Given the description of an element on the screen output the (x, y) to click on. 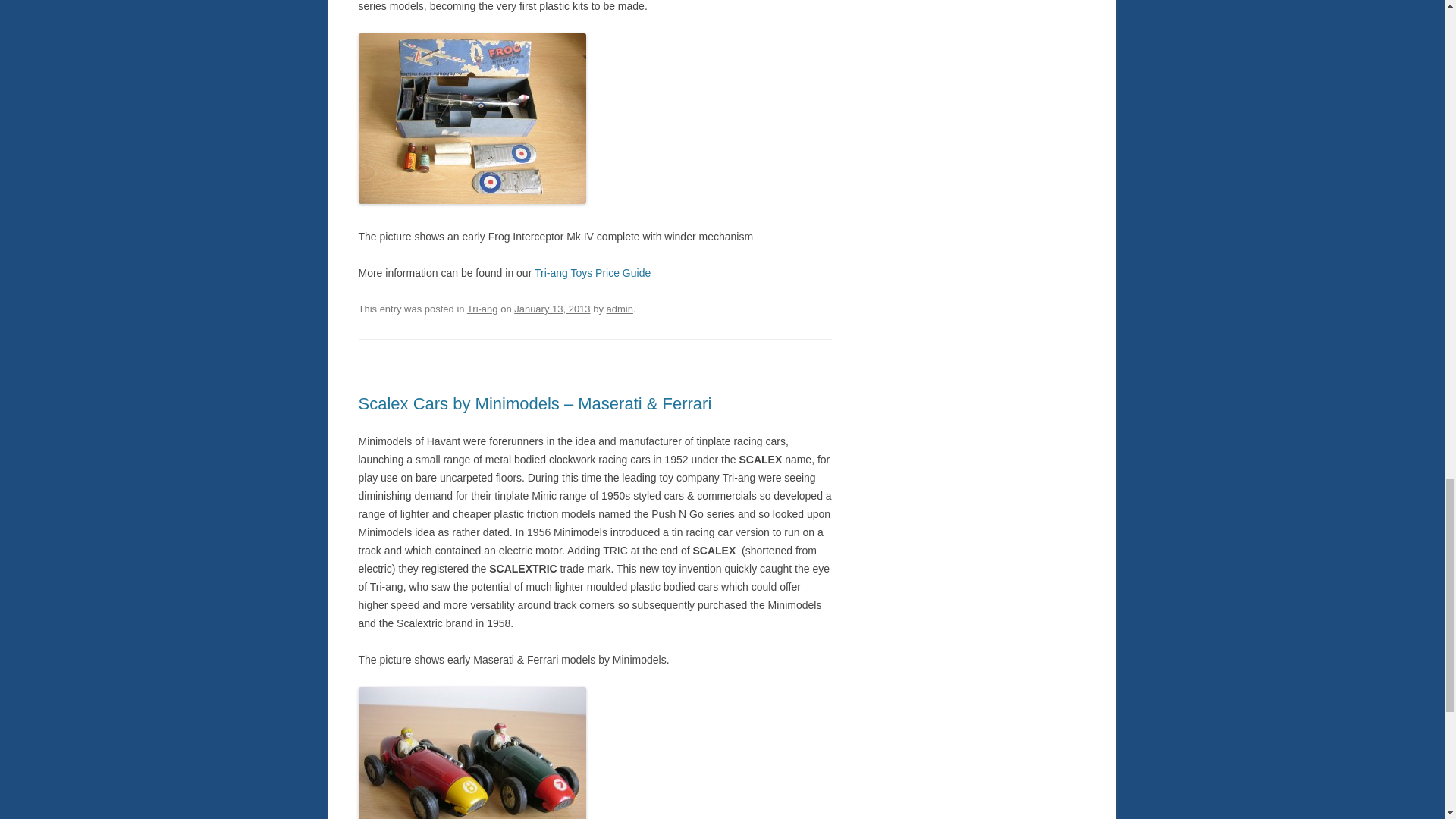
January 13, 2013 (551, 308)
admin (620, 308)
View all posts by admin (620, 308)
Tri-ang (482, 308)
2:53 pm (551, 308)
Tri-ang Toys (592, 272)
Scalex-Cars-by-Minimodels (471, 753)
Tri-ang Toys Price Guide (592, 272)
